Given the description of an element on the screen output the (x, y) to click on. 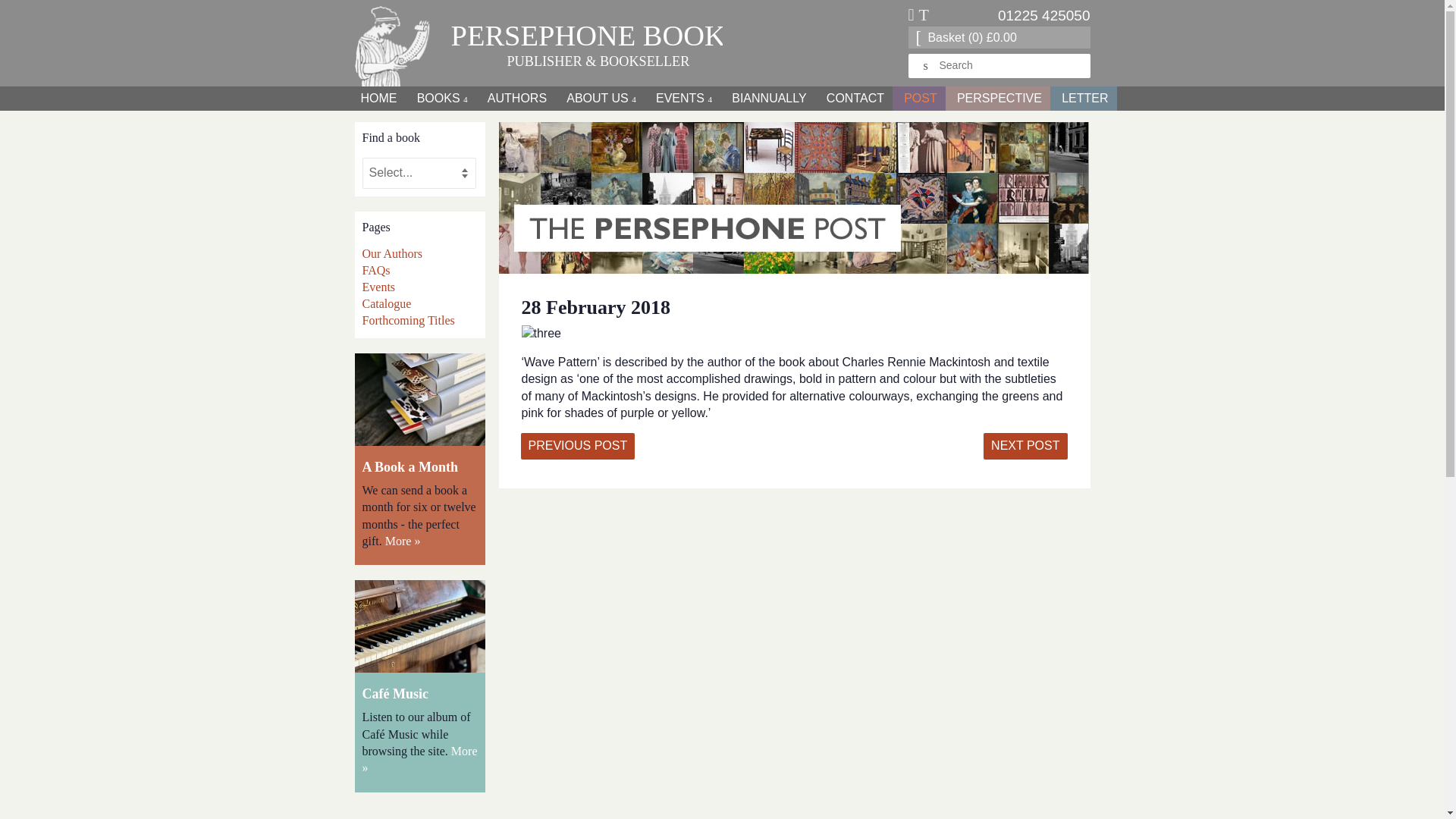
SEARCH (926, 66)
27 February 2018 (576, 446)
01225 425050 (1043, 15)
1 March 2018 (1025, 446)
